Given the description of an element on the screen output the (x, y) to click on. 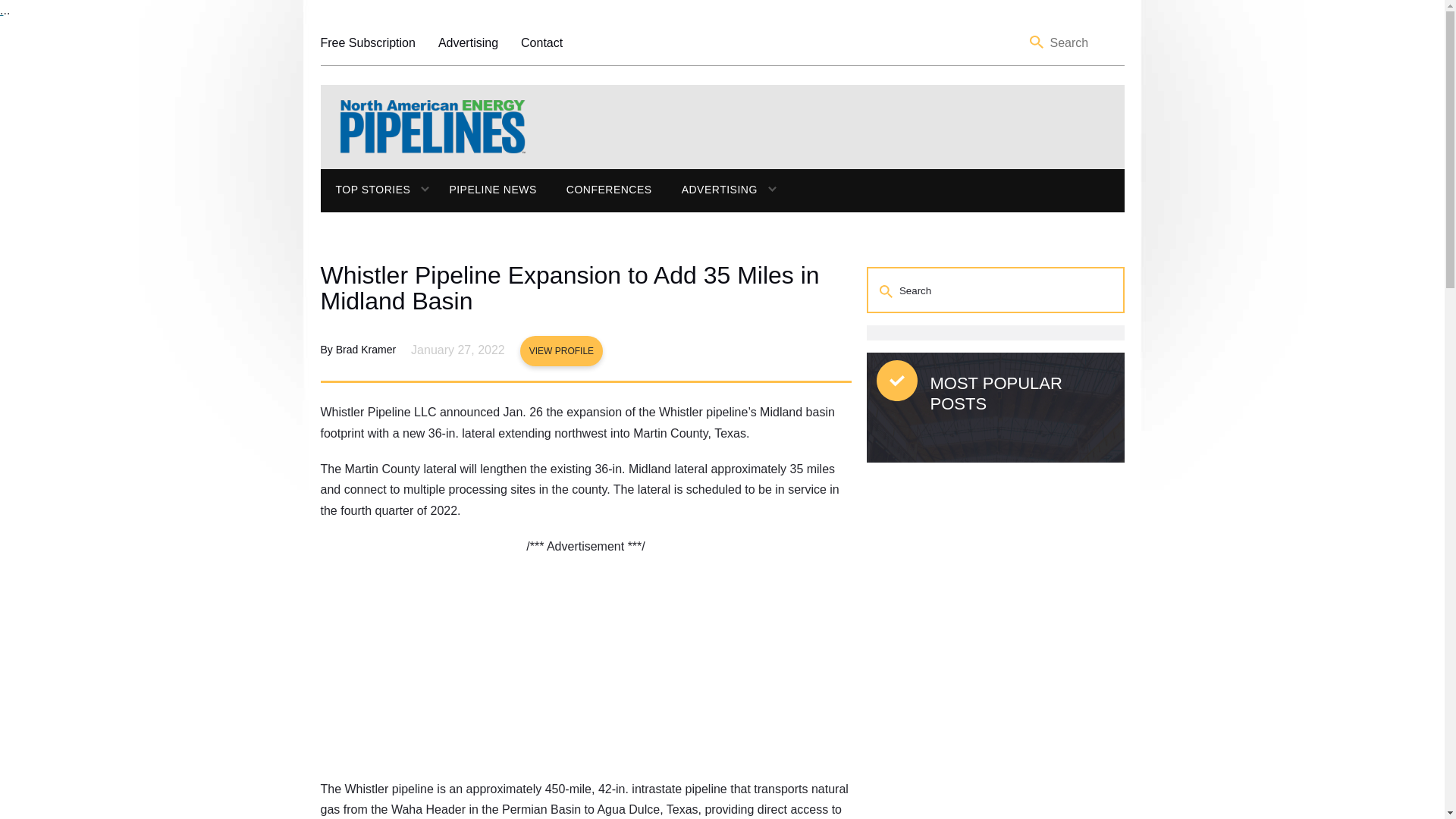
Whistler Pipeline Expansion to Add 35 Miles in Midland Basin (585, 287)
Whistler Pipeline Expansion to Add 35 Miles in Midland Basin (585, 287)
Free Magazine Subscription (367, 42)
CONFERENCES (608, 189)
ADVERTISING (711, 189)
VIEW PROFILE (560, 350)
Contact (541, 42)
Search (887, 290)
TOP STORIES (365, 189)
Advertising (467, 42)
